Given the description of an element on the screen output the (x, y) to click on. 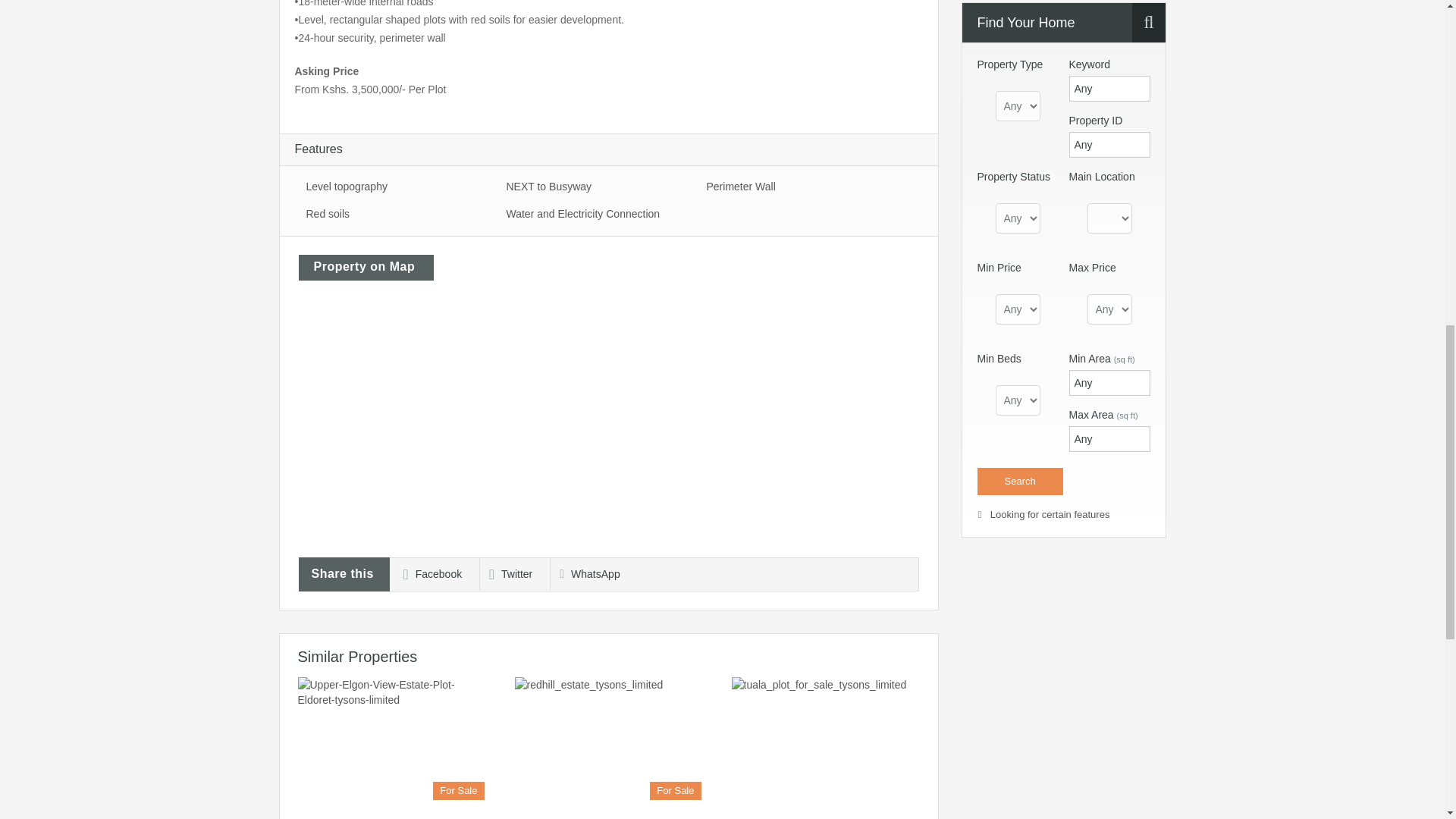
Only provide digits! (1109, 382)
Search (1019, 481)
Only provide digits! (1109, 438)
